Given the description of an element on the screen output the (x, y) to click on. 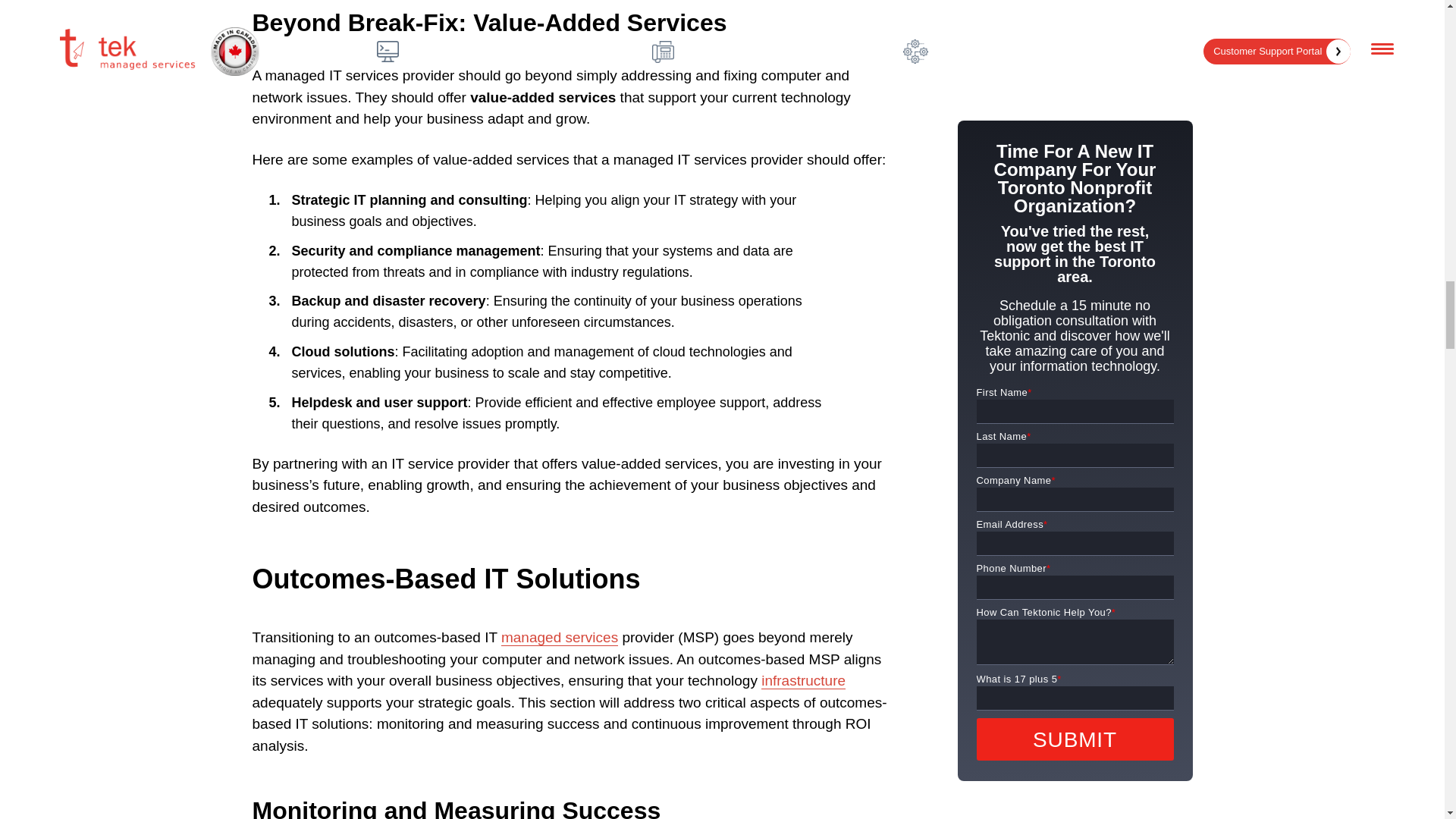
infrastructure (803, 680)
managed services (558, 637)
